Given the description of an element on the screen output the (x, y) to click on. 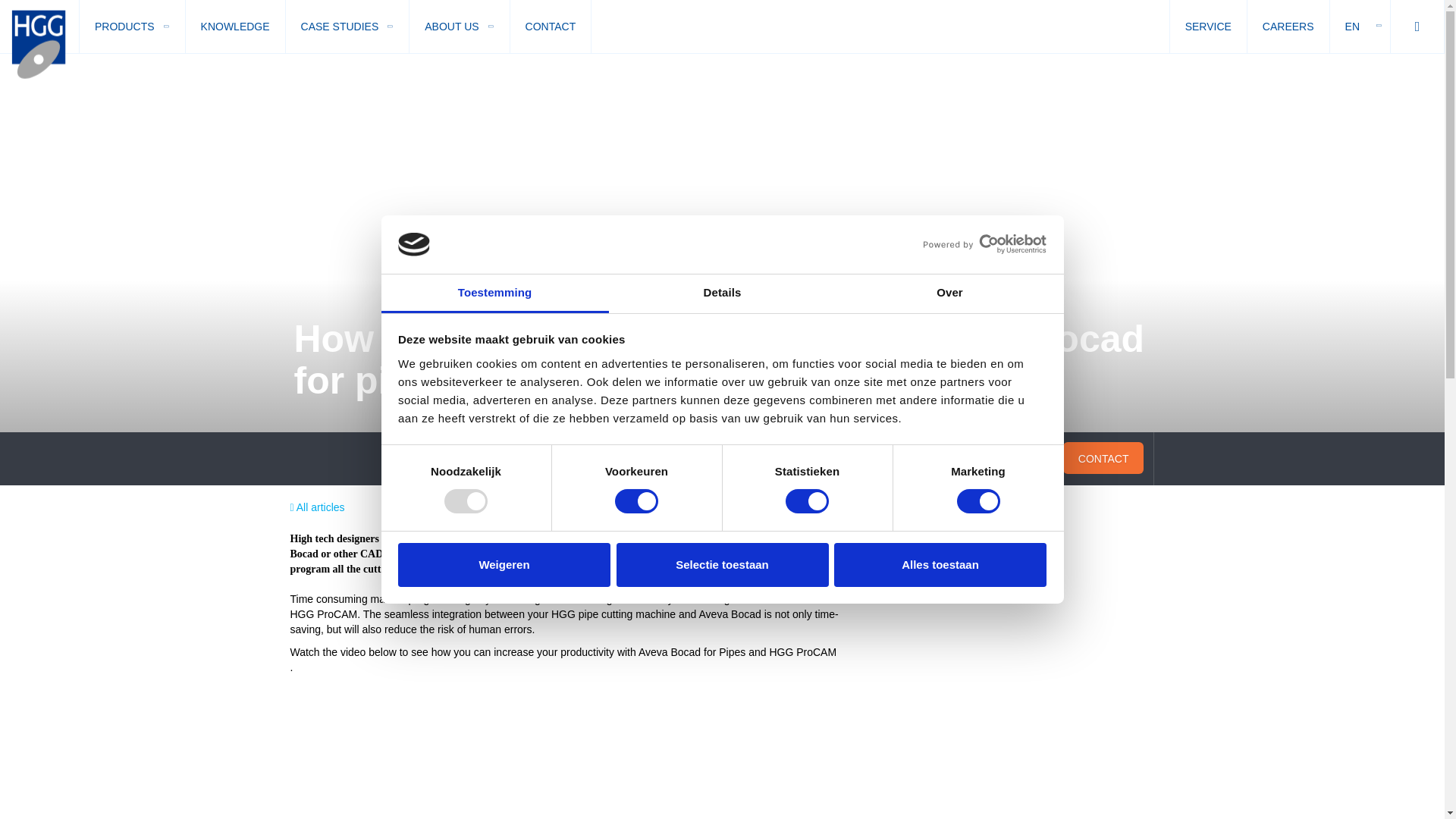
Details (721, 293)
Products (132, 26)
Toestemming (494, 293)
Over (948, 293)
